Given the description of an element on the screen output the (x, y) to click on. 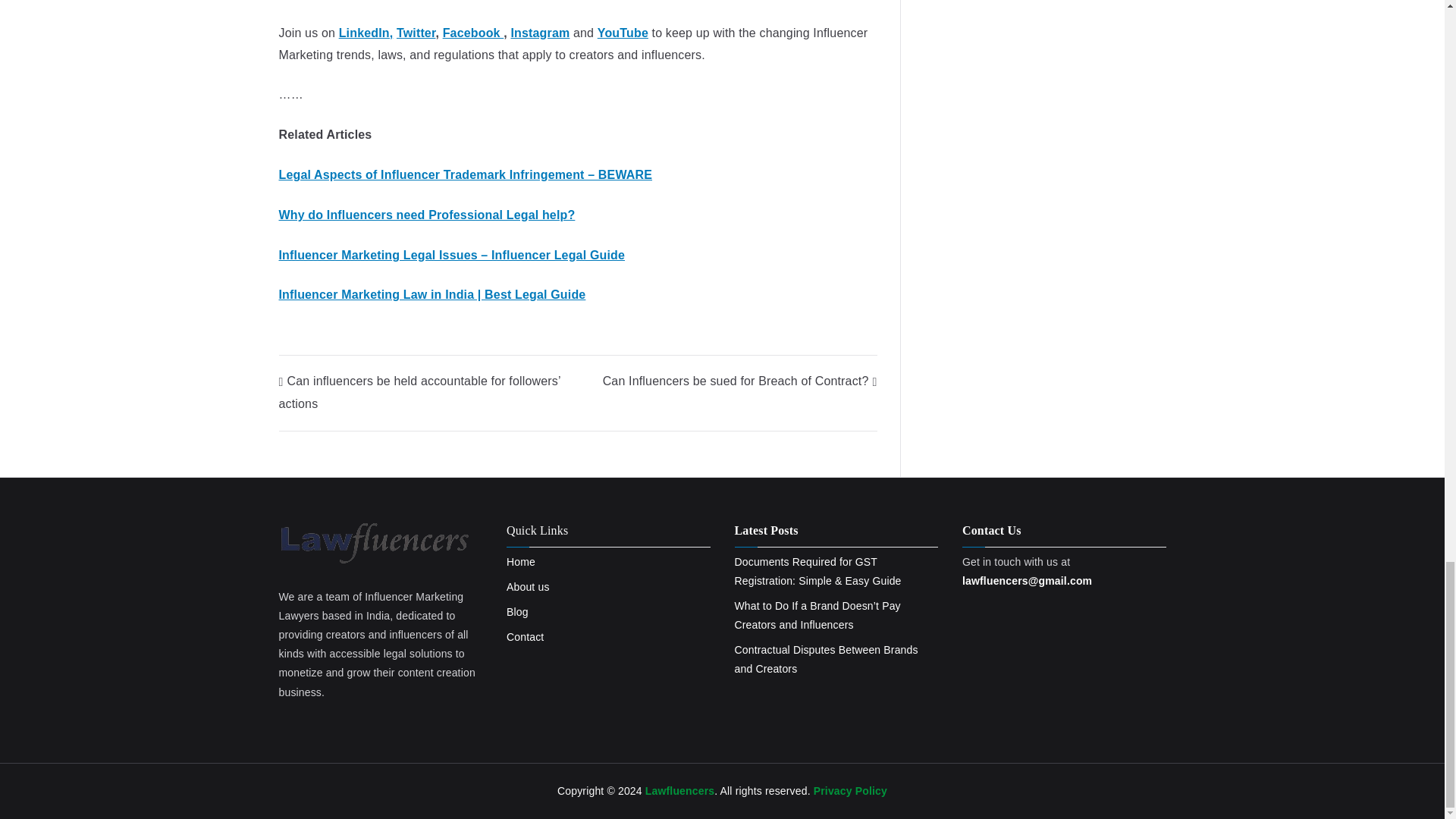
Twitter (415, 32)
YouTube (621, 32)
Instagram (540, 32)
LinkedIn, (366, 32)
Lawfluencers (679, 790)
Why do Influencers need Professional Legal help? (427, 214)
Facebook  (472, 32)
